Given the description of an element on the screen output the (x, y) to click on. 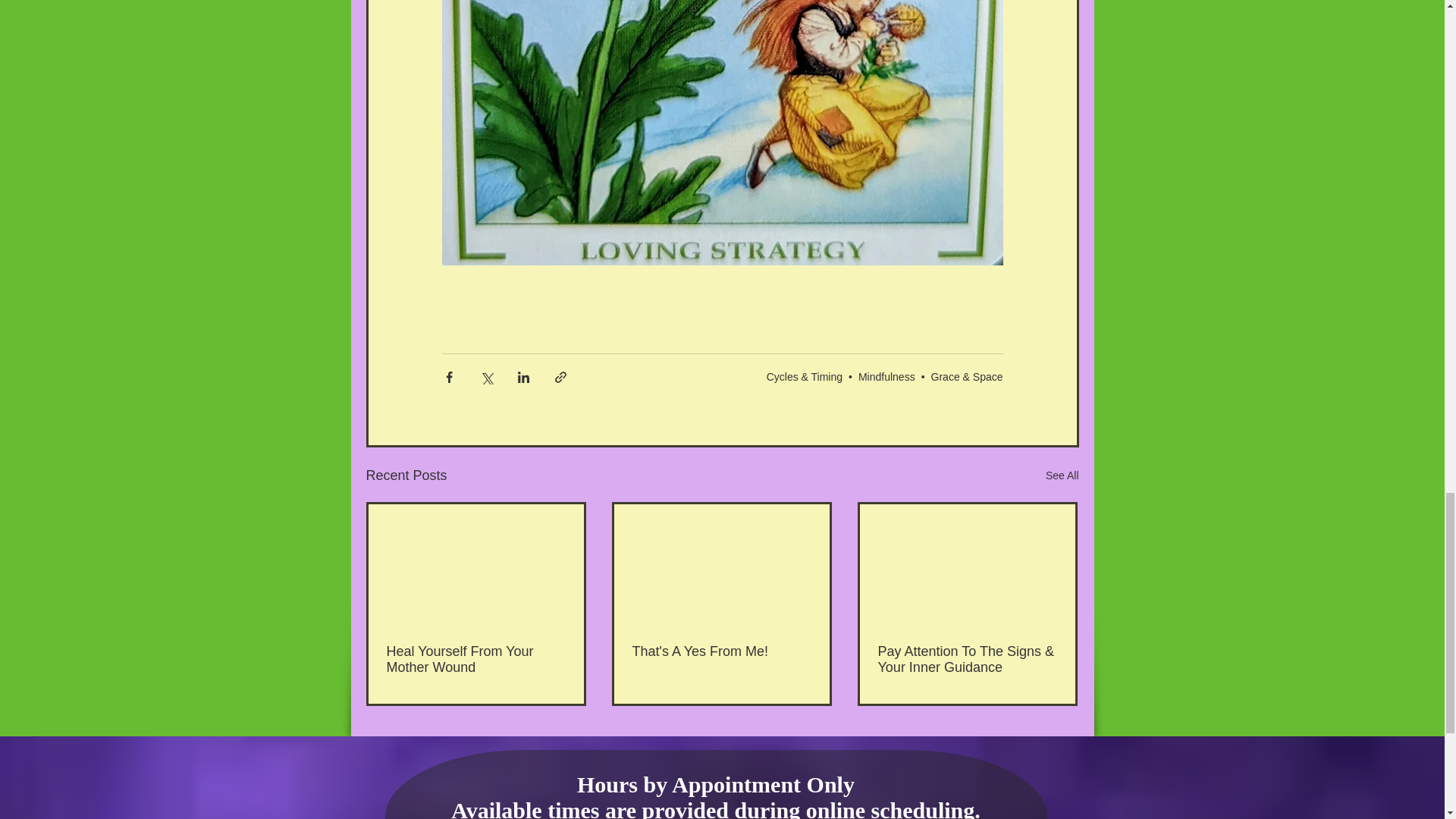
Mindfulness (887, 377)
See All (1061, 475)
That's A Yes From Me! (720, 651)
Heal Yourself From Your Mother Wound (476, 659)
